Given the description of an element on the screen output the (x, y) to click on. 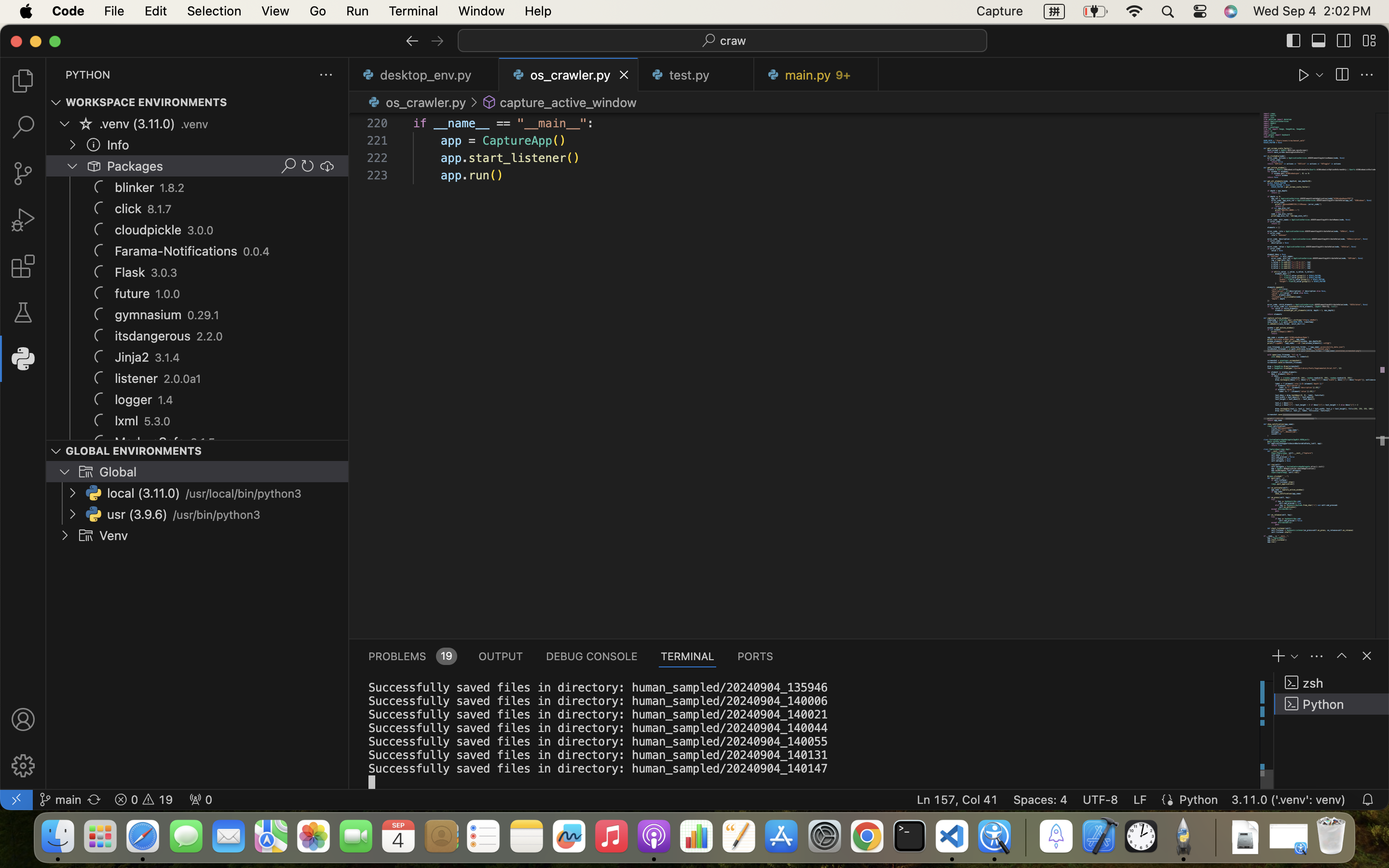
cloudpickle Element type: AXStaticText (148, 229)
 Element type: AXCheckBox (1293, 40)
 Element type: AXStaticText (100, 186)
0  Element type: AXRadioButton (23, 266)
 Element type: AXGroup (23, 219)
